Given the description of an element on the screen output the (x, y) to click on. 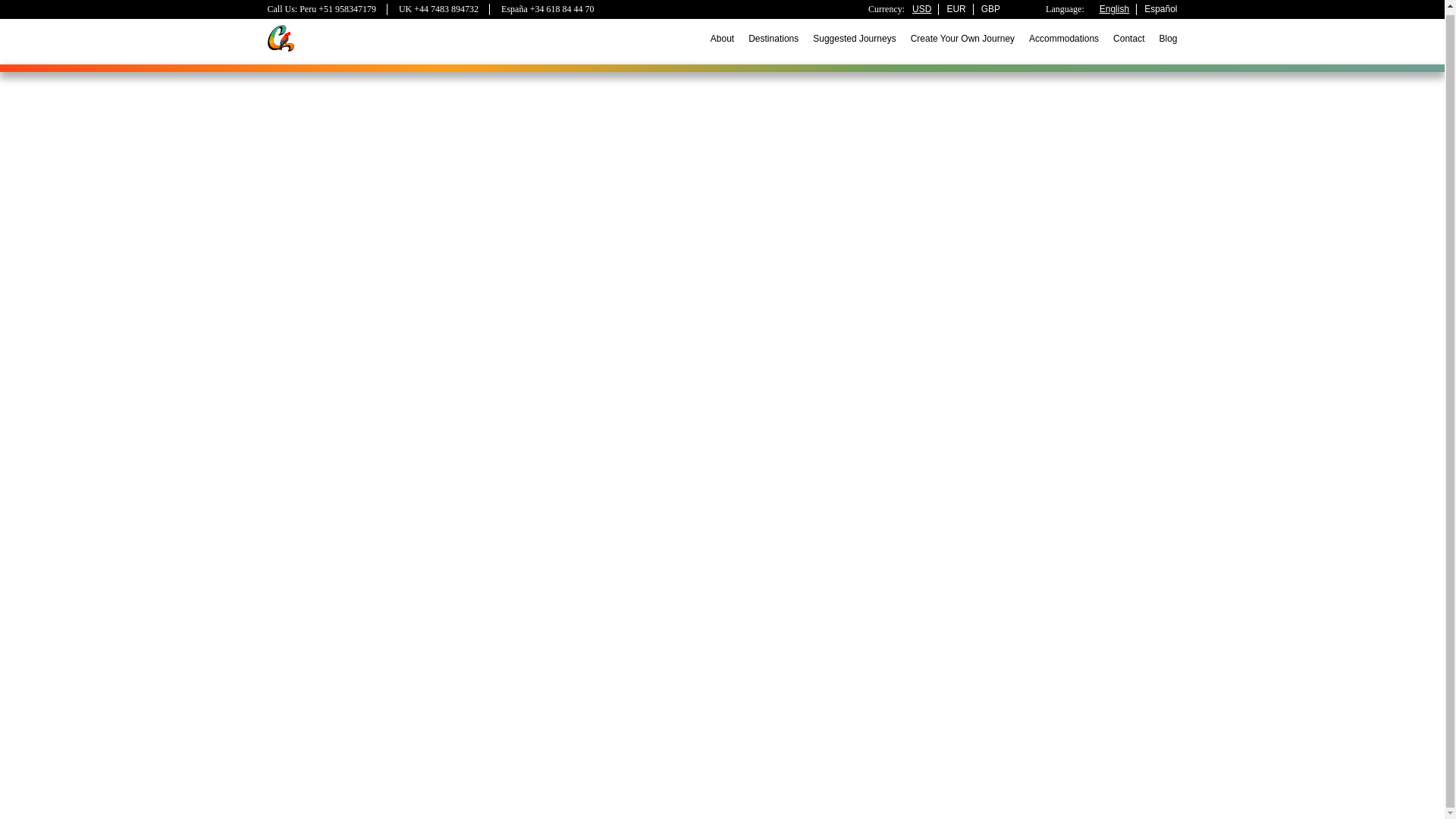
Create Your Own Journey (962, 34)
Suggested Journeys (853, 34)
English (1114, 5)
GBP (990, 5)
Destinations (772, 34)
Accommodations (1064, 34)
About (721, 34)
Blog (1167, 34)
Contact (1128, 34)
USD (921, 5)
EUR (955, 5)
